Given the description of an element on the screen output the (x, y) to click on. 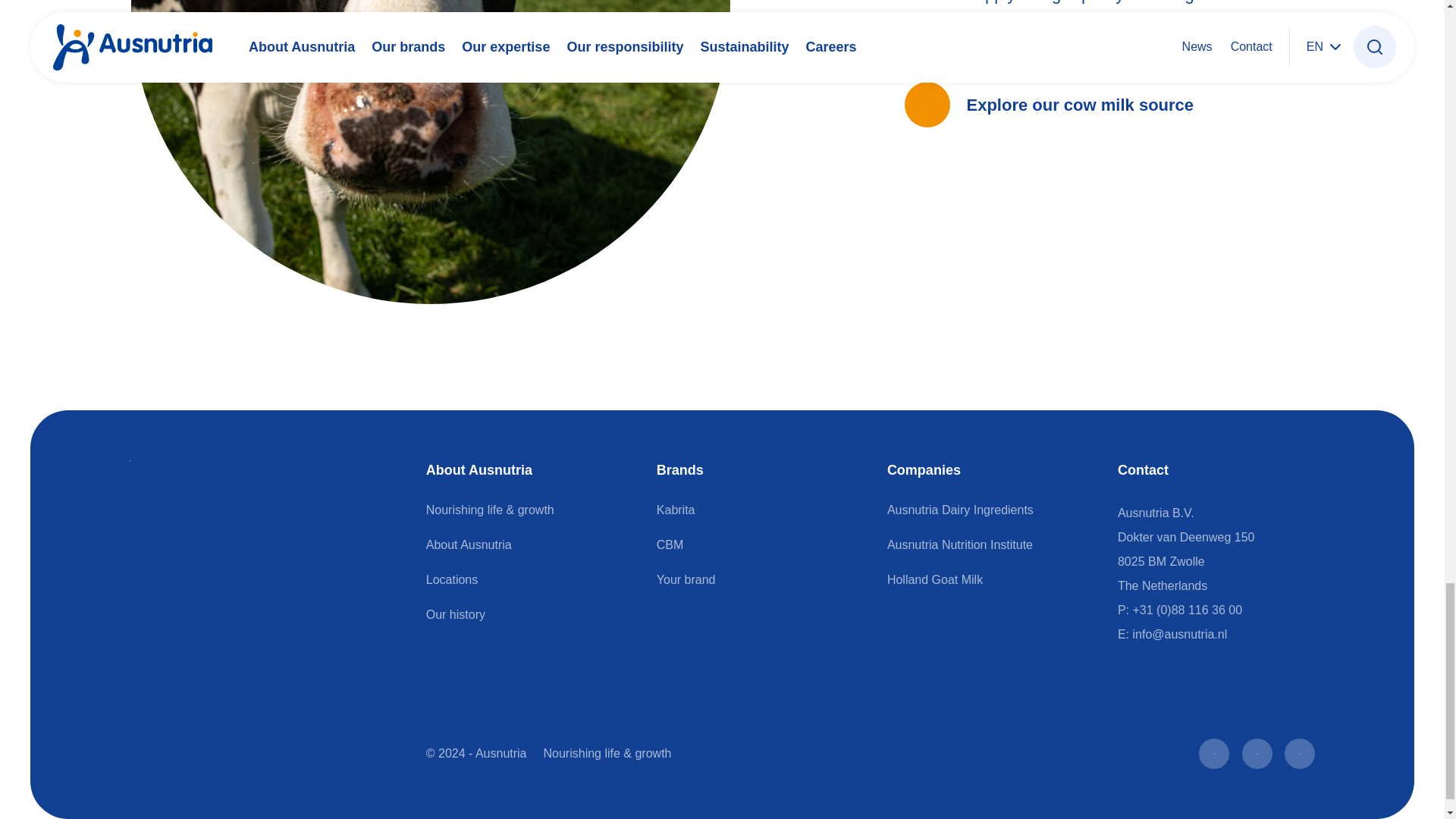
Explore our cow milk source (1048, 104)
